Given the description of an element on the screen output the (x, y) to click on. 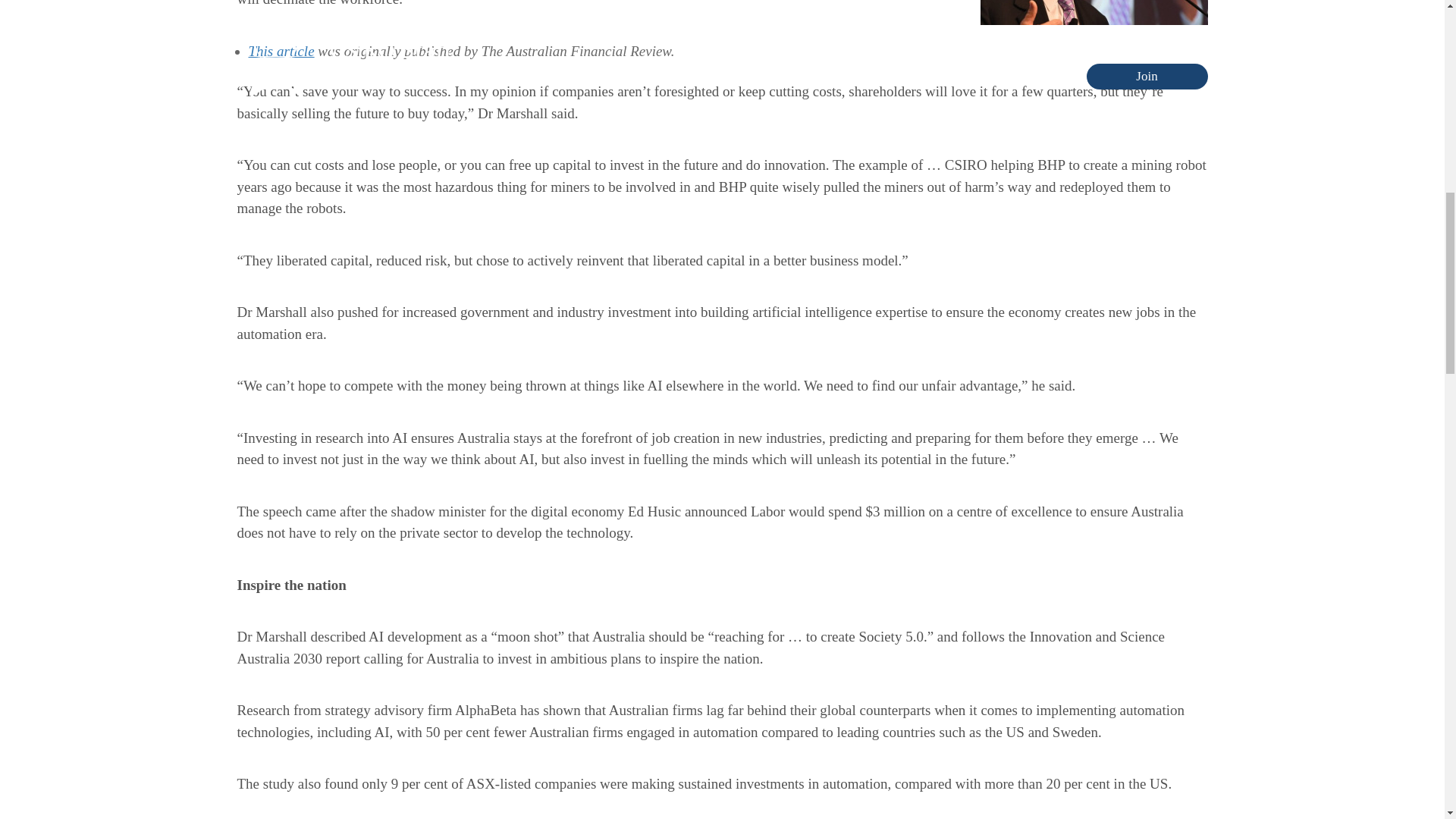
This article (281, 50)
